Given the description of an element on the screen output the (x, y) to click on. 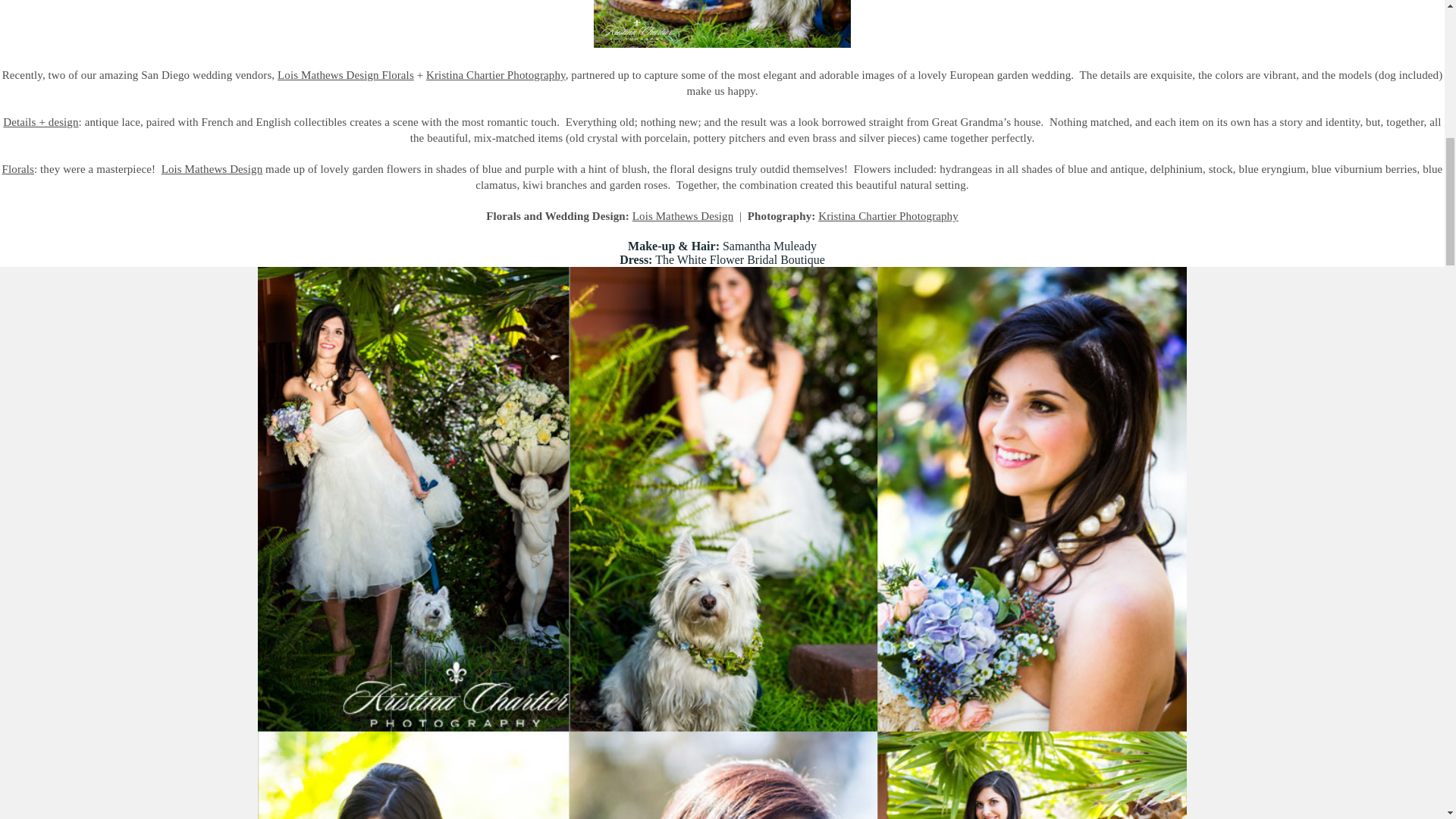
Kristina Chartier Photography (888, 215)
Kristina Chartier Photography (496, 74)
Lois Mathews Design (682, 215)
Lois Mathews Design Florals (345, 74)
Lois Mathews Design (212, 168)
